Given the description of an element on the screen output the (x, y) to click on. 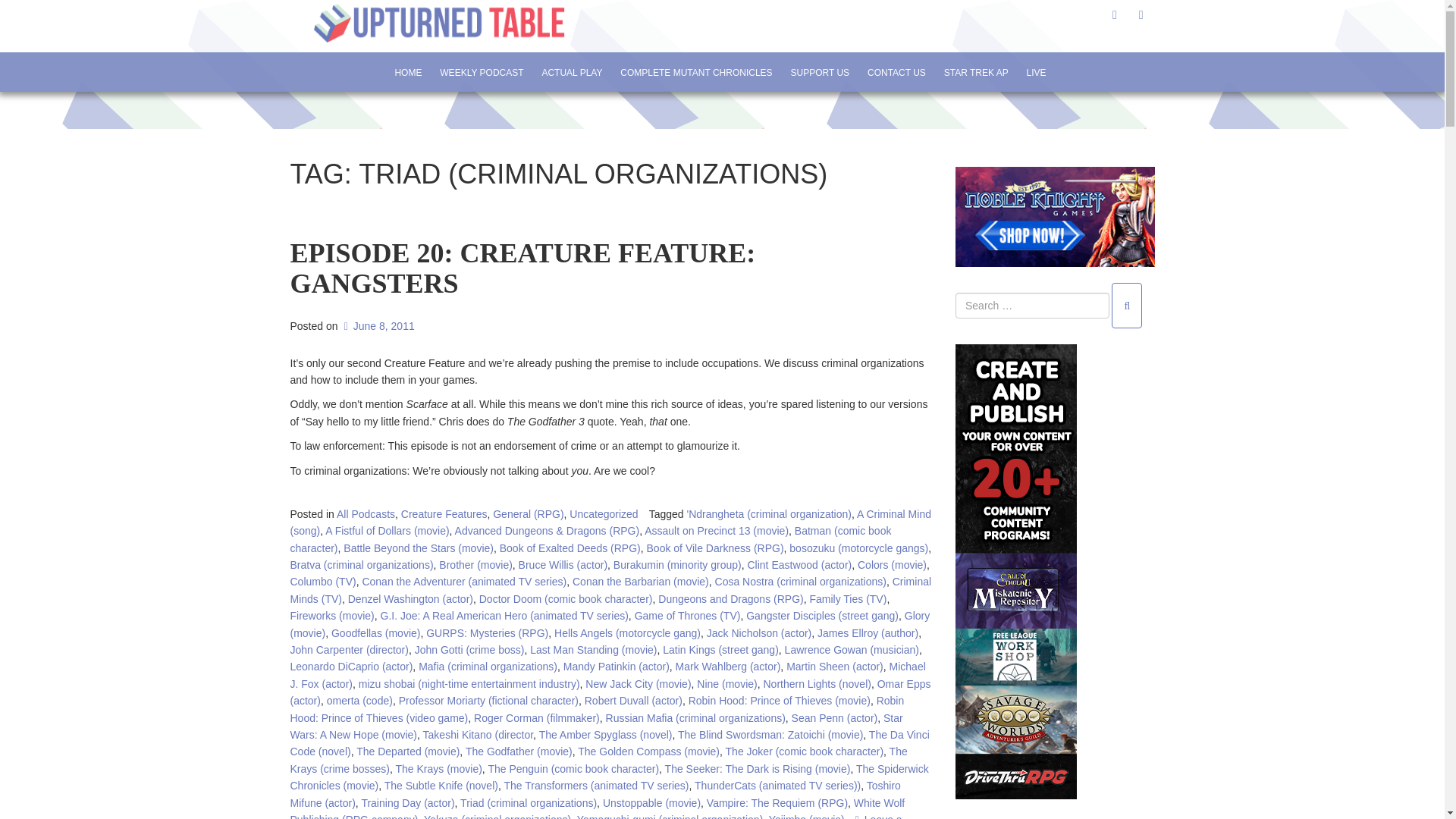
Creature Features (444, 417)
SUPPORT US (820, 72)
EPISODE 20: CREATURE FEATURE: GANGSTERS (522, 184)
ACTUAL PLAY (571, 72)
June 8, 2011 (376, 228)
INSTAGRAM (1141, 14)
All Podcasts (365, 417)
WEEKLY PODCAST (481, 72)
LIVE (1036, 72)
COMPLETE MUTANT CHRONICLES (695, 72)
